Given the description of an element on the screen output the (x, y) to click on. 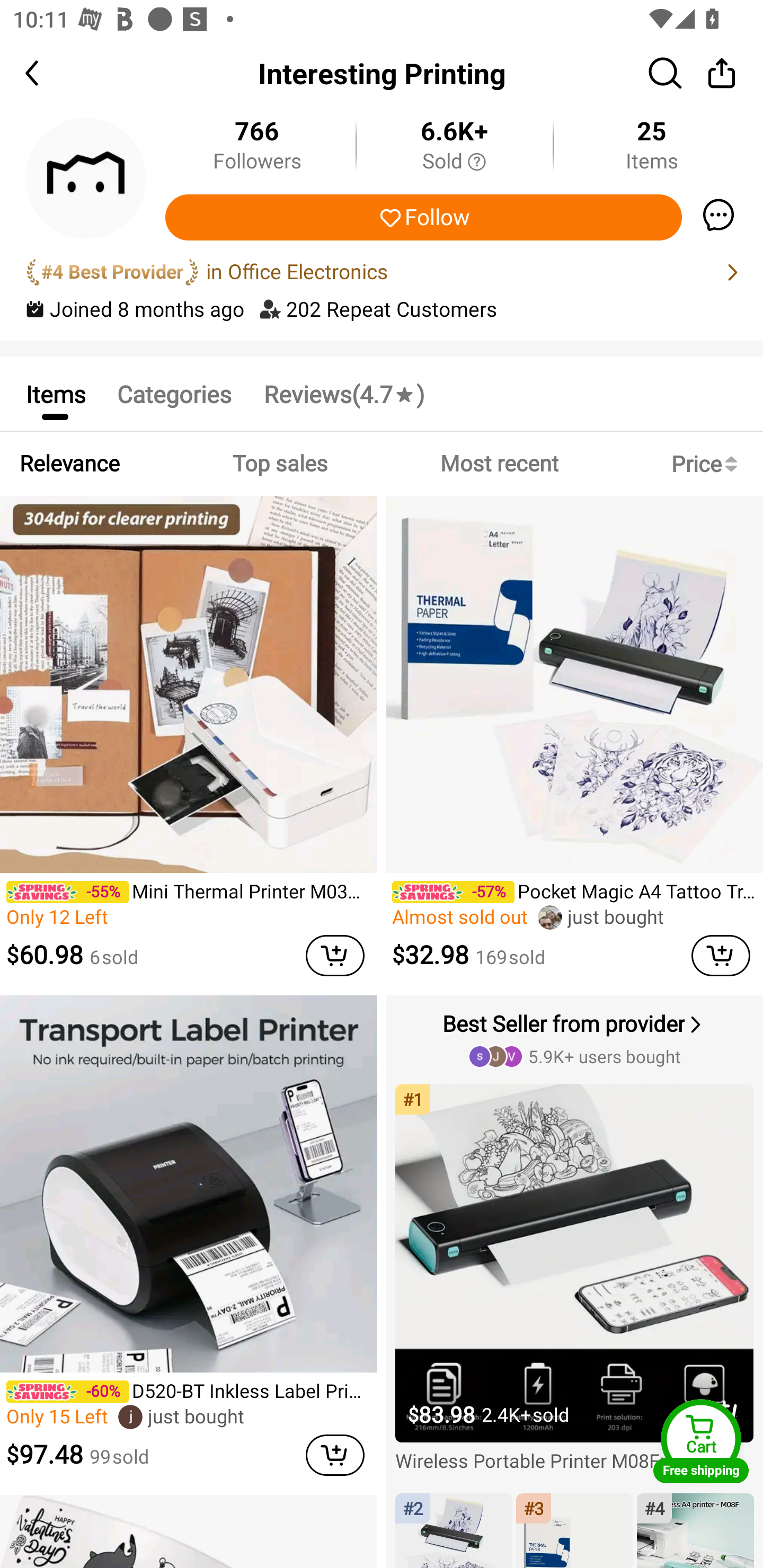
back (47, 72)
share (721, 72)
Sold (453, 161)
#4 Best Provider in Office Electronics (381, 272)
Items (55, 393)
Categories (174, 393)
Reviews(4.7 ) (343, 393)
Relevance (69, 463)
Top sales (279, 463)
Most recent (498, 463)
Price (707, 463)
cart delete (334, 955)
cart delete (720, 955)
Best Seller from provider 5.9K+ users bought (576, 1037)
Cart Free shipping Cart (701, 1440)
cart delete (334, 1454)
#2 (453, 1530)
#3 (574, 1530)
#4 (695, 1530)
